Given the description of an element on the screen output the (x, y) to click on. 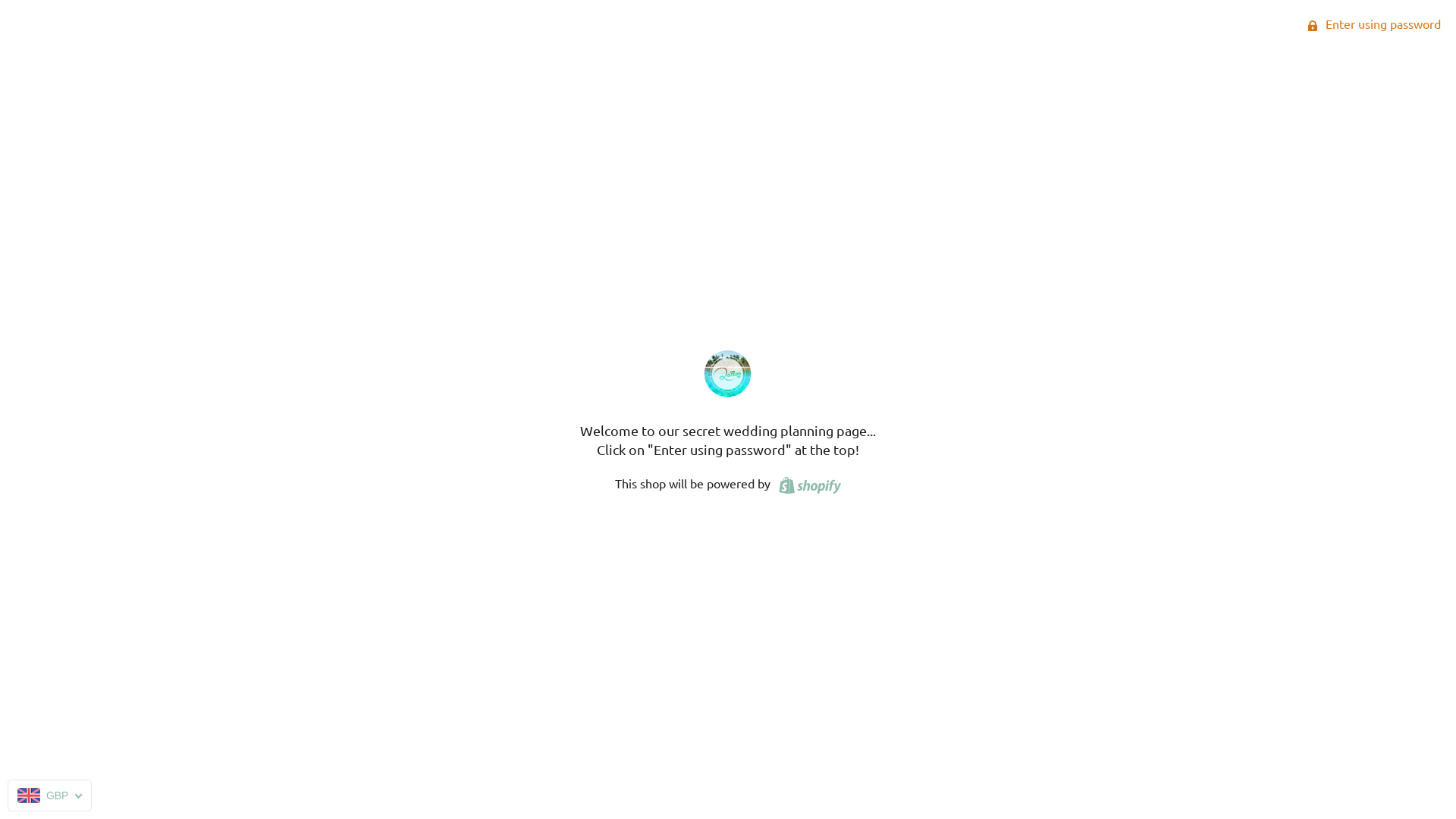
Shopify Element type: text (806, 482)
